Given the description of an element on the screen output the (x, y) to click on. 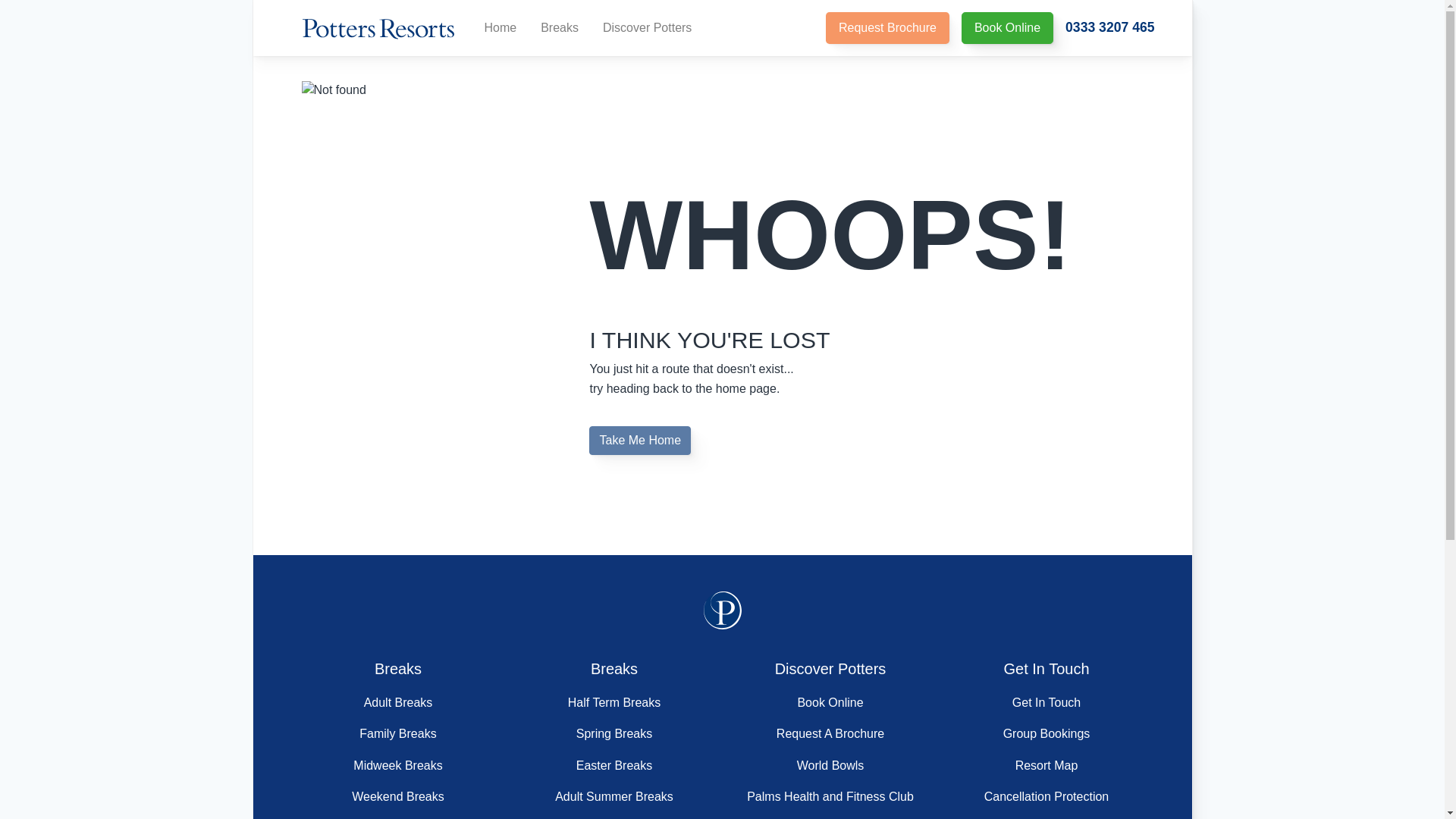
Palms Health and Fitness Club (830, 796)
Midweek Breaks (397, 765)
Adult Breaks (398, 702)
Take Me Home (639, 440)
Spring Breaks (614, 733)
Group Bookings (1046, 733)
Book Online (1006, 28)
0333 3207 465 (1109, 27)
Adult Summer Breaks (613, 796)
Half Term Breaks (614, 702)
Discover Potters (646, 28)
Easter Breaks (614, 765)
World Bowls (830, 765)
Get In Touch (1045, 702)
Request Brochure (887, 28)
